Given the description of an element on the screen output the (x, y) to click on. 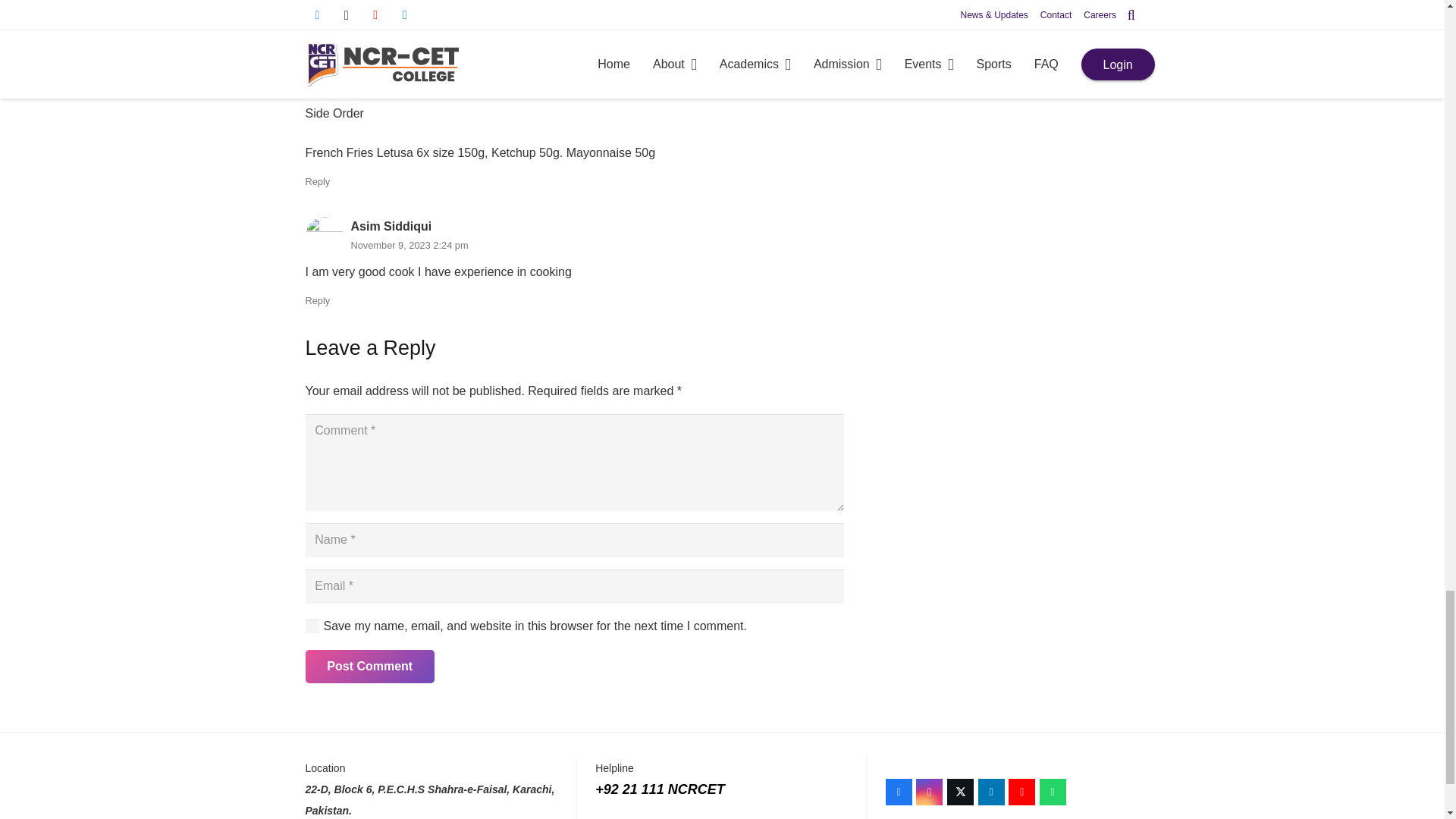
Instagram (928, 791)
LinkedIn (991, 791)
WhatsApp (1052, 791)
November 9, 2023 2:24 pm (408, 244)
Facebook (898, 791)
Twitter (960, 791)
1 (311, 626)
YouTube (1022, 791)
